Given the description of an element on the screen output the (x, y) to click on. 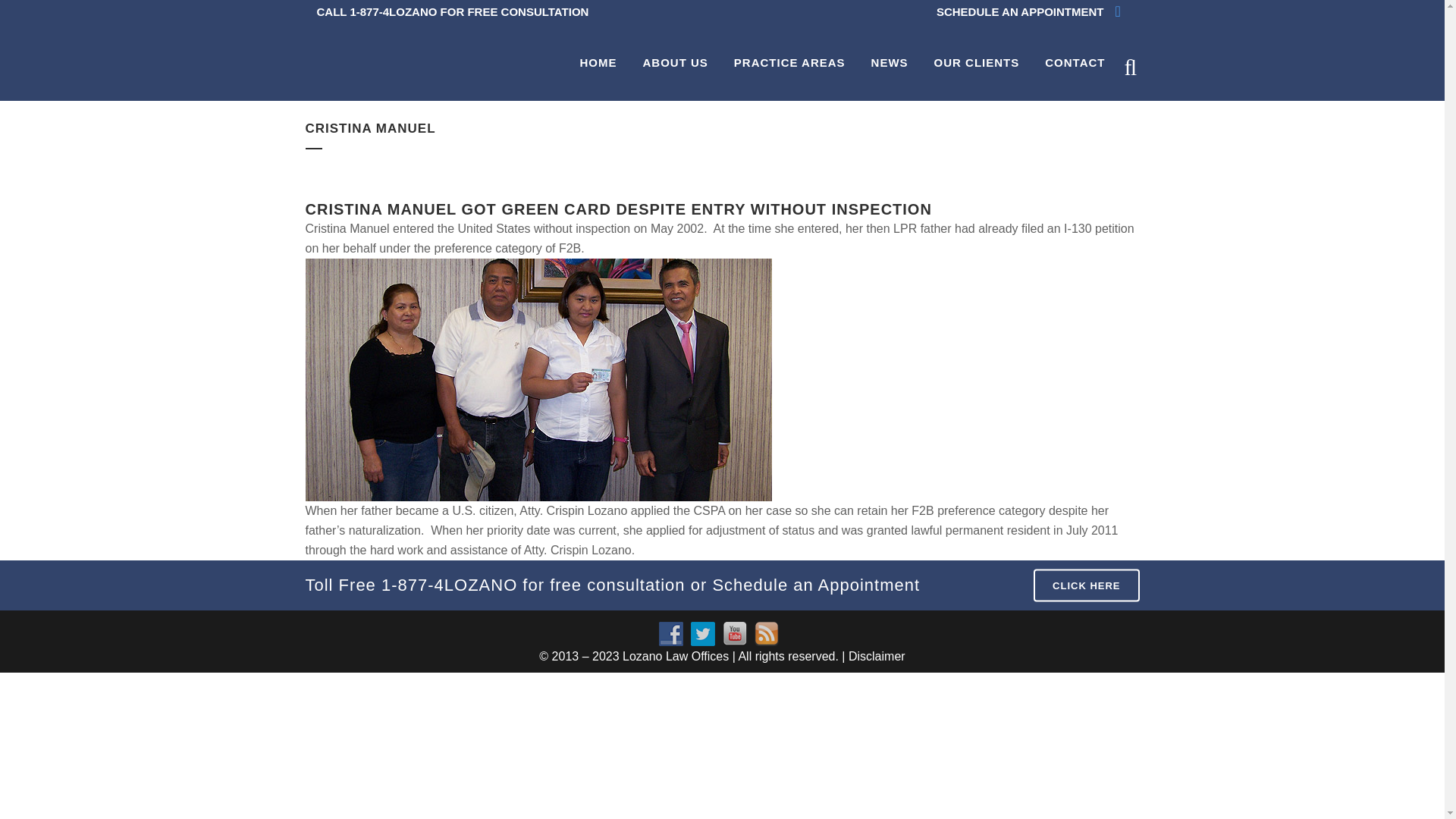
CONTACT (1075, 62)
 Twitter (702, 633)
Cristina Manuel (537, 379)
 YouTube (733, 633)
PRACTICE AREAS (789, 62)
 RSS (765, 633)
 Facebook (670, 633)
OUR CLIENTS (976, 62)
ABOUT US (674, 62)
